Given the description of an element on the screen output the (x, y) to click on. 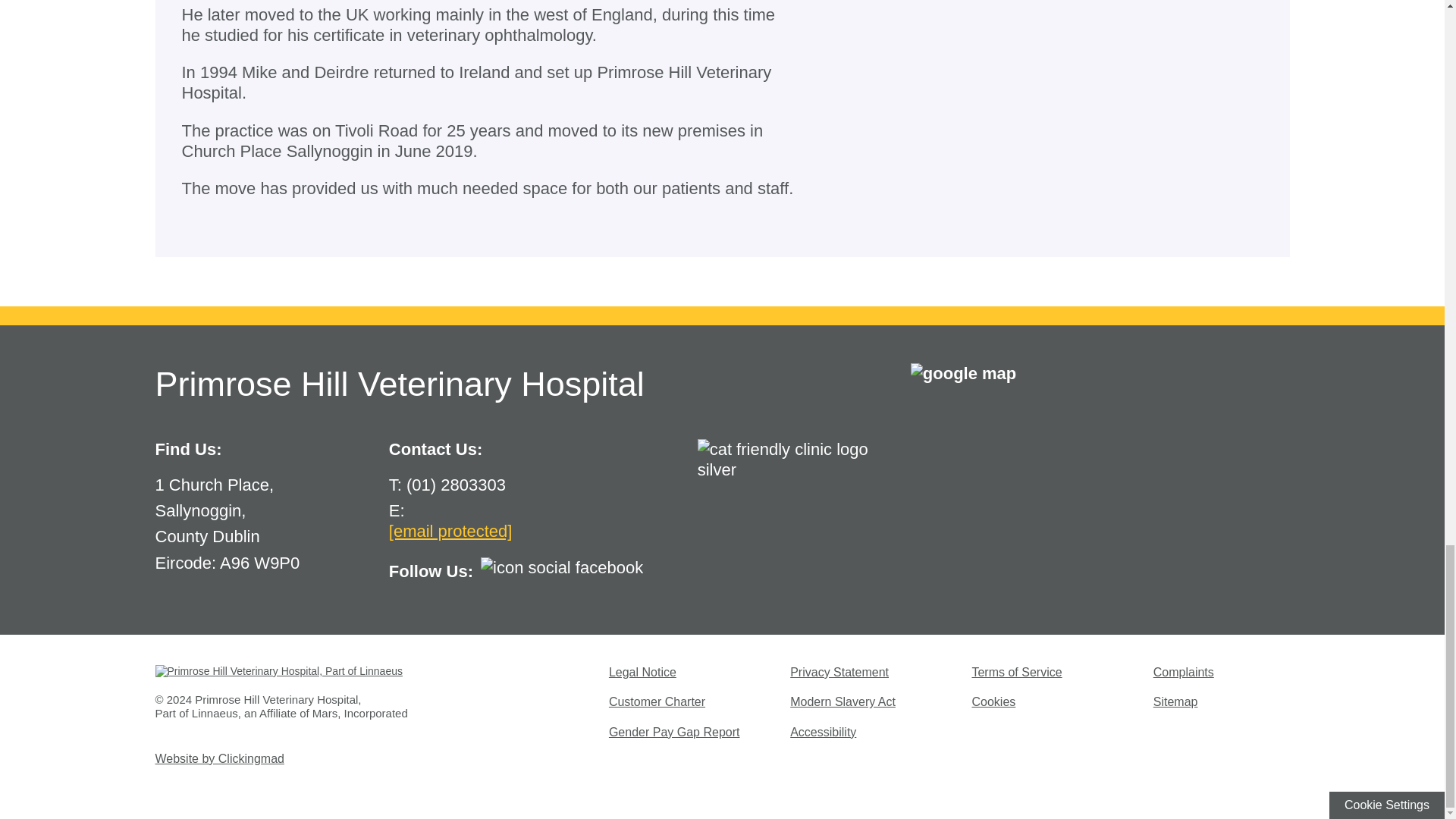
Website Development by Clickingmad (218, 758)
